Given the description of an element on the screen output the (x, y) to click on. 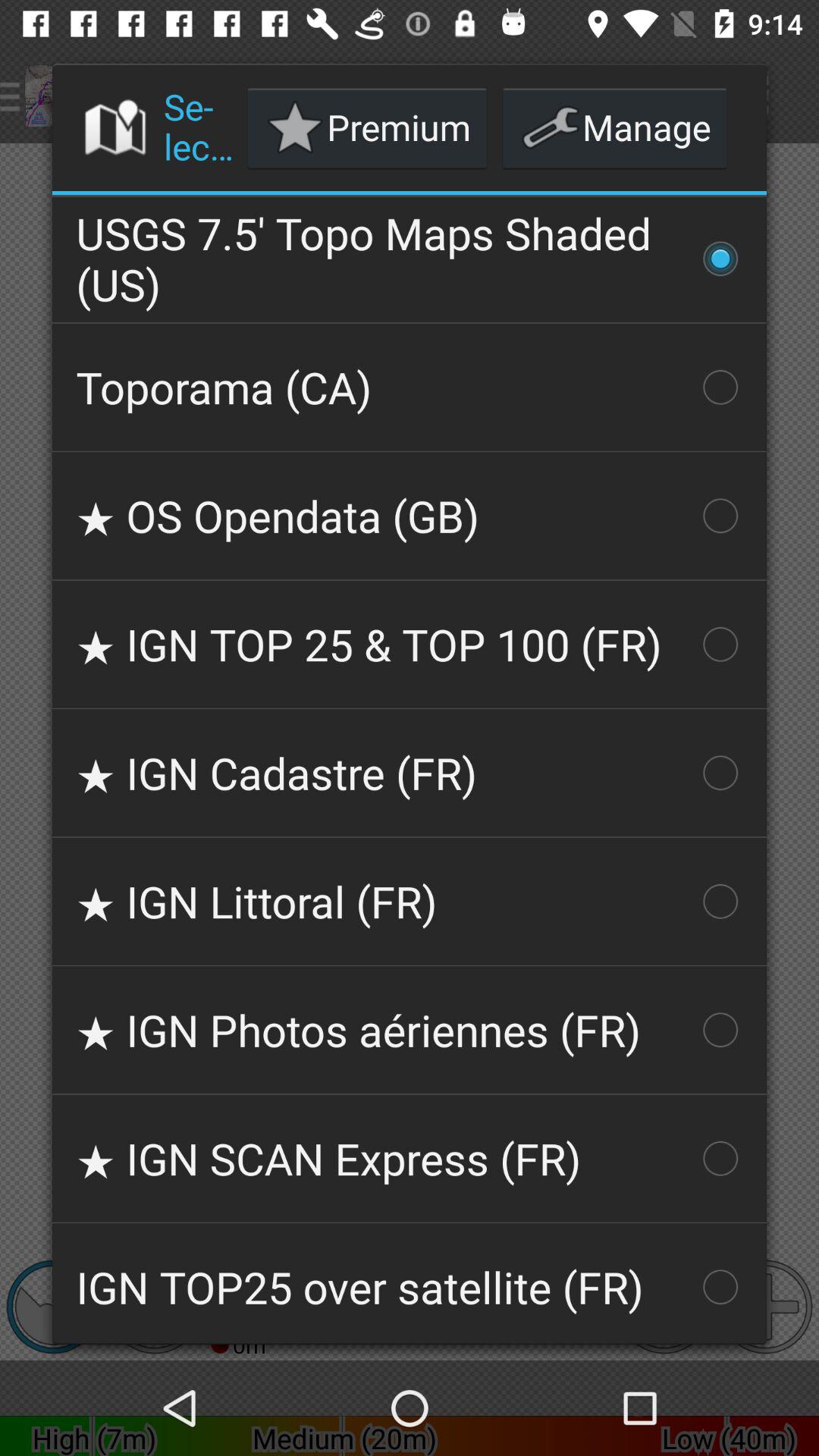
swipe until manage button (614, 127)
